Given the description of an element on the screen output the (x, y) to click on. 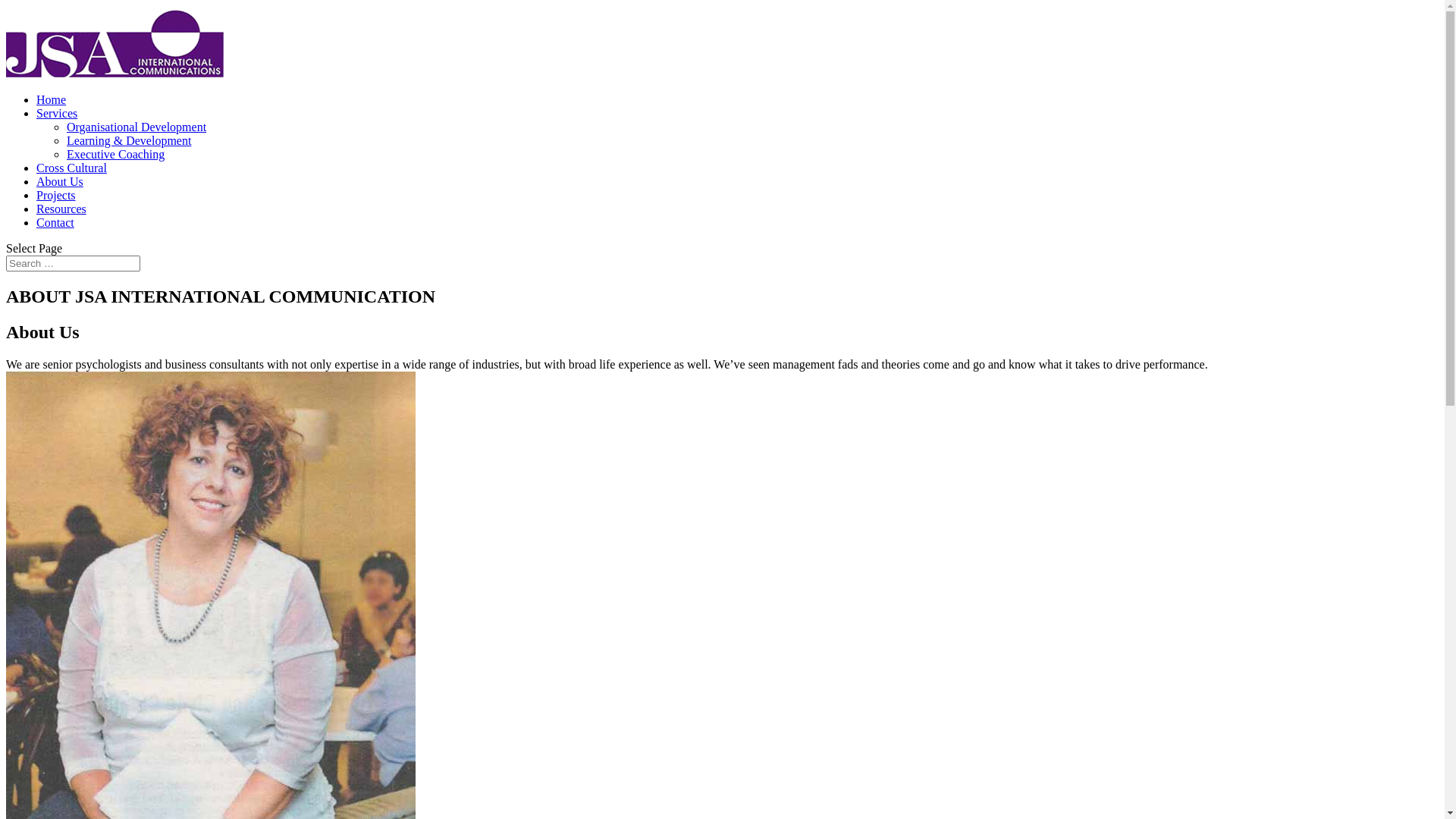
Contact Element type: text (55, 222)
Learning & Development Element type: text (128, 140)
Executive Coaching Element type: text (115, 153)
Cross Cultural Element type: text (71, 167)
Home Element type: text (50, 99)
Organisational Development Element type: text (136, 126)
Projects Element type: text (55, 194)
Resources Element type: text (61, 208)
Search for: Element type: hover (73, 263)
Services Element type: text (56, 112)
About Us Element type: text (59, 181)
